Given the description of an element on the screen output the (x, y) to click on. 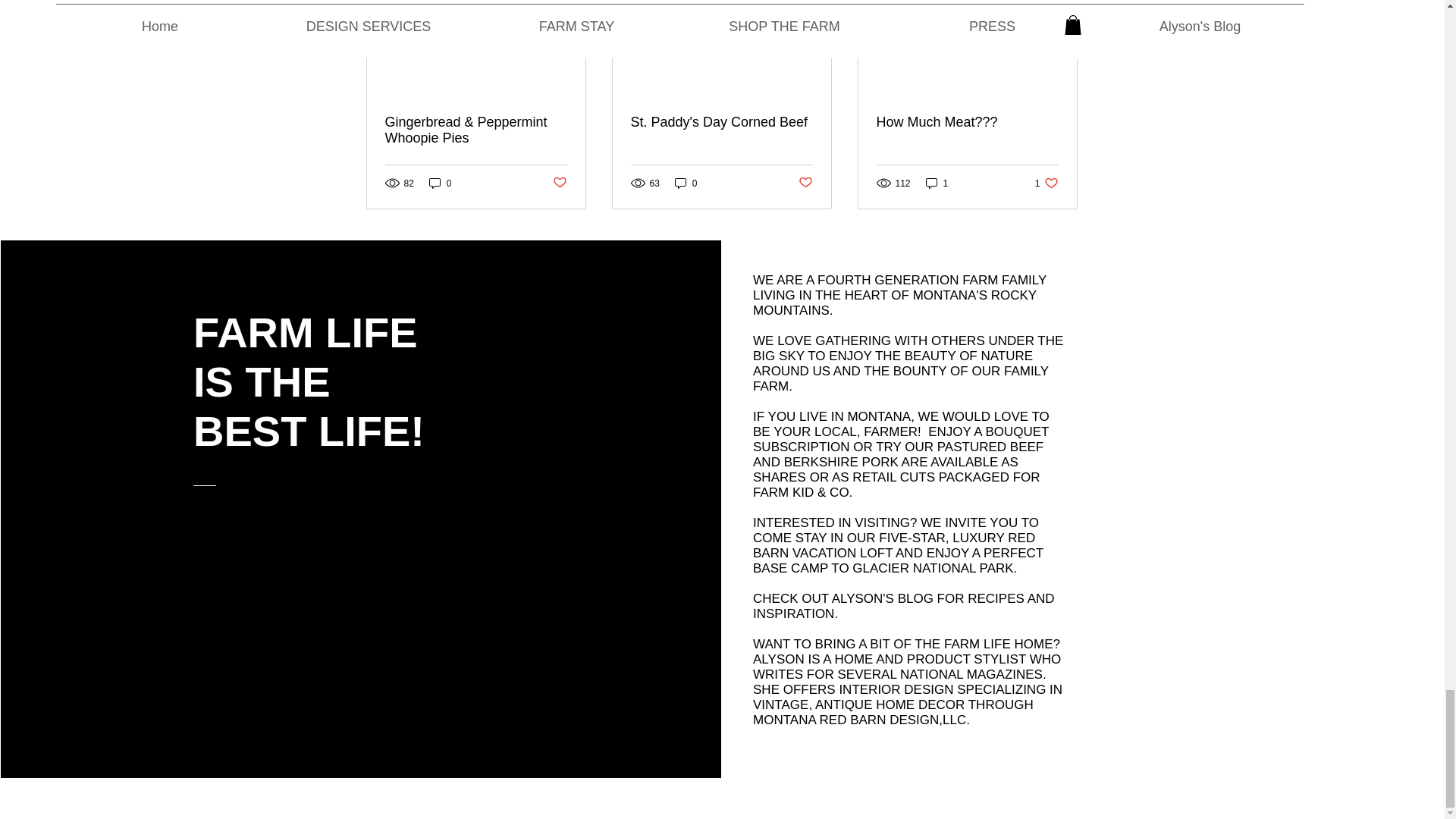
Post not marked as liked (804, 182)
Post not marked as liked (558, 182)
St. Paddy's Day Corned Beef (721, 122)
0 (440, 183)
0 (685, 183)
